Given the description of an element on the screen output the (x, y) to click on. 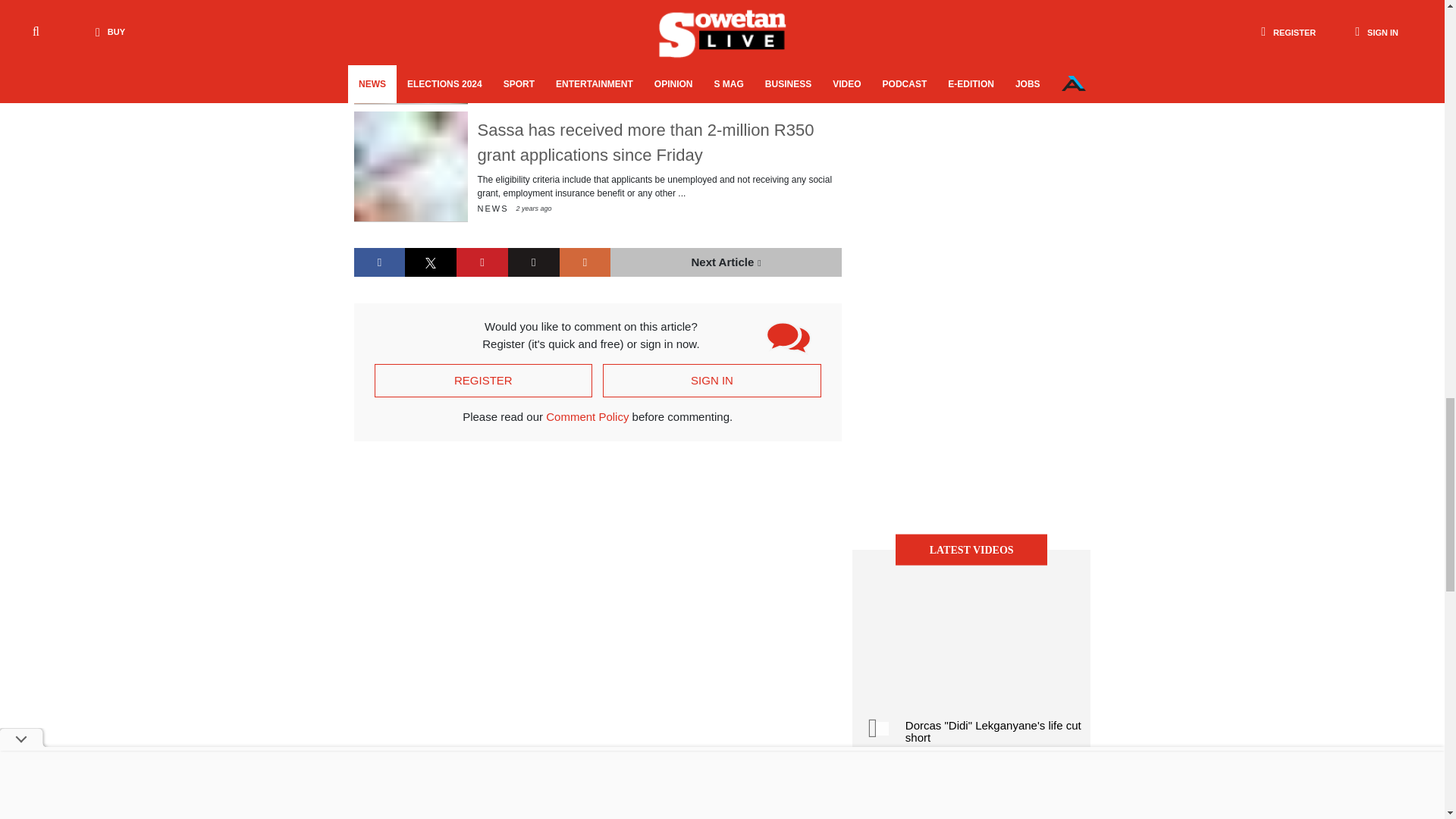
3rd party ad content (970, 291)
